Given the description of an element on the screen output the (x, y) to click on. 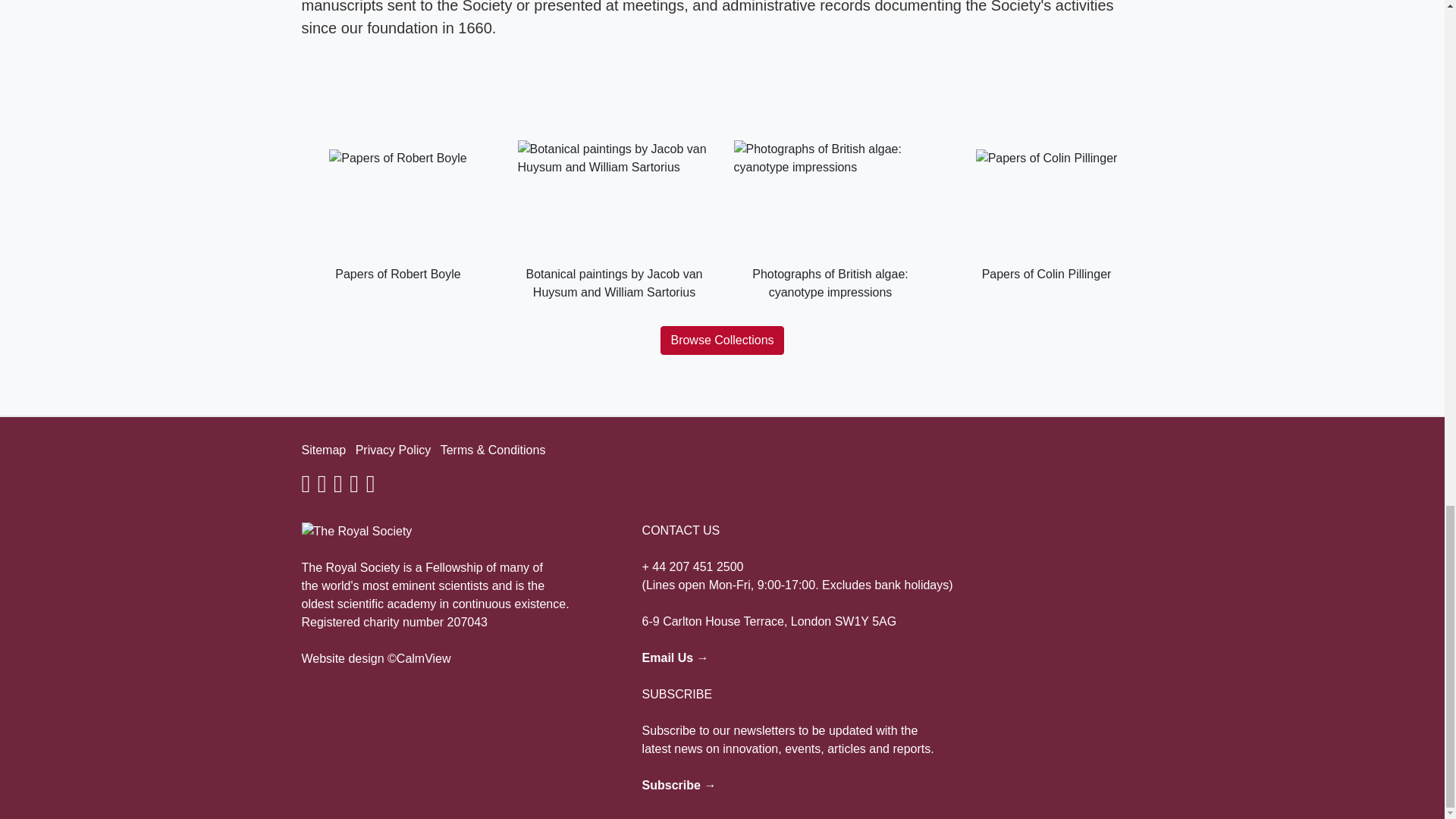
Sitemap (323, 449)
Privacy Policy (392, 449)
Browse Collections (722, 339)
